Given the description of an element on the screen output the (x, y) to click on. 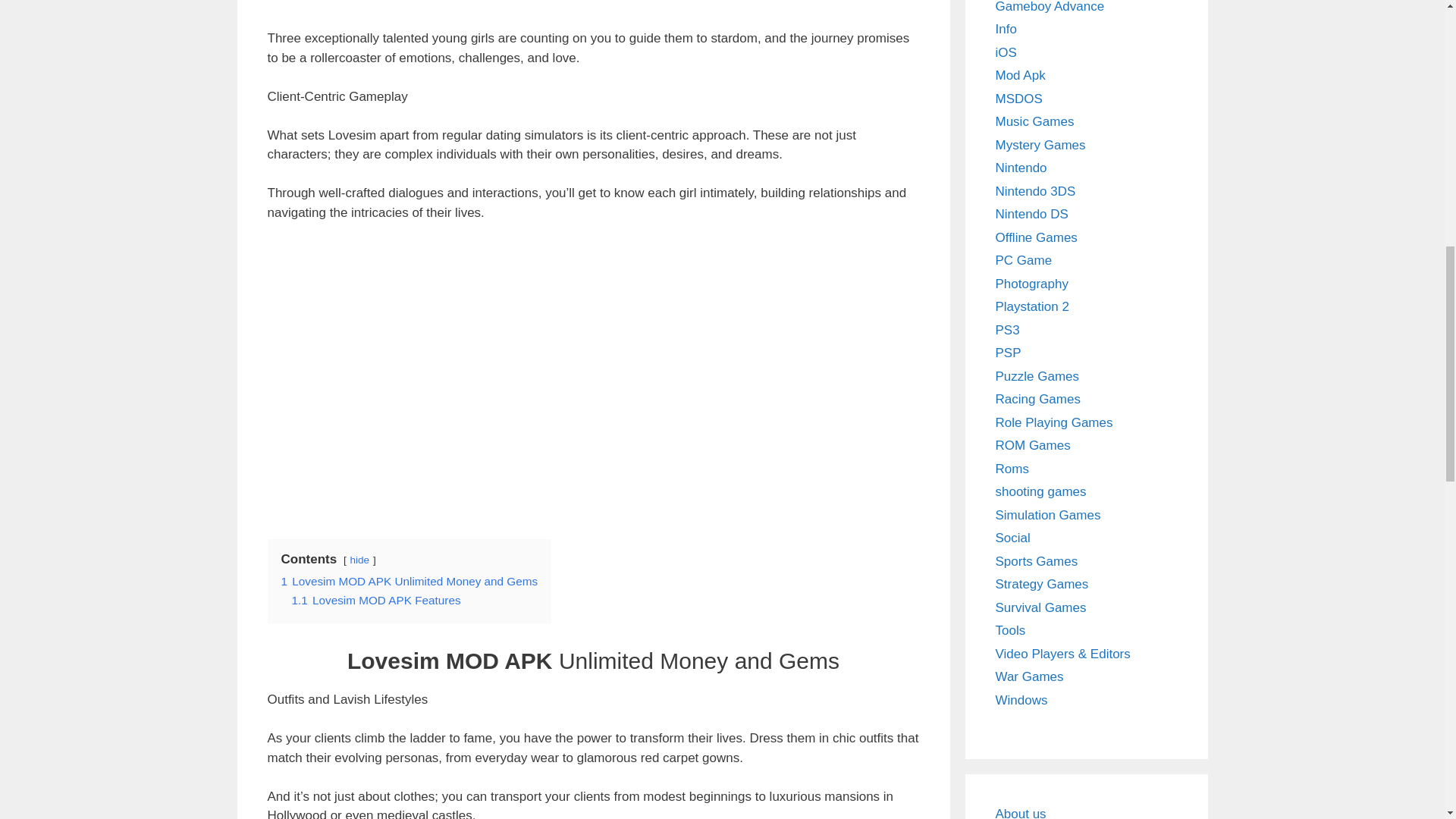
Mod Apk (1019, 74)
Info (1005, 29)
MSDOS (1018, 97)
1.1 Lovesim MOD APK Features (375, 599)
hide (359, 559)
iOS (1005, 52)
Gameboy Advance (1048, 6)
1 Lovesim MOD APK Unlimited Money and Gems (409, 581)
